Given the description of an element on the screen output the (x, y) to click on. 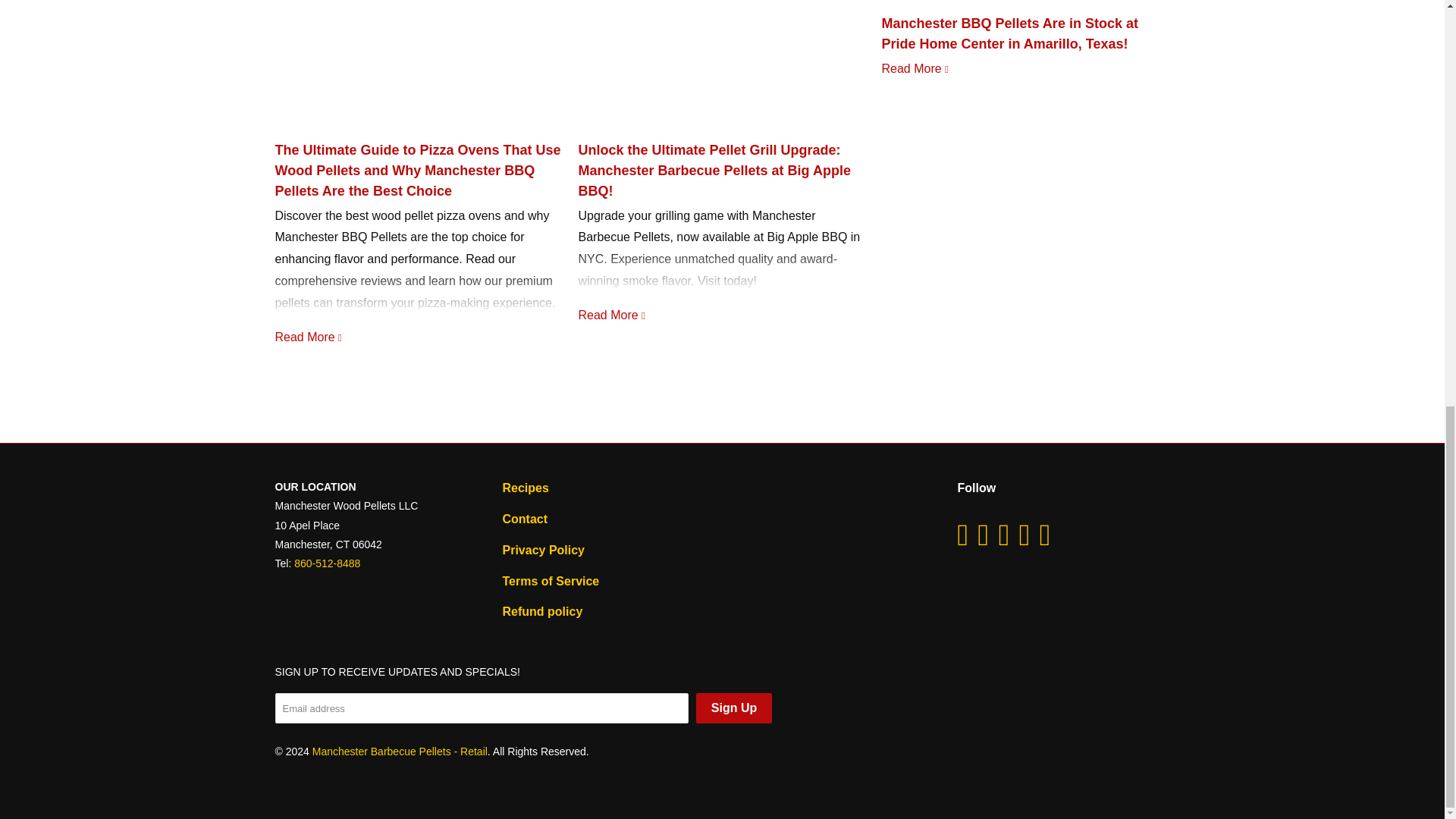
Read More (612, 314)
Sign Up (733, 707)
Read More (309, 336)
